Given the description of an element on the screen output the (x, y) to click on. 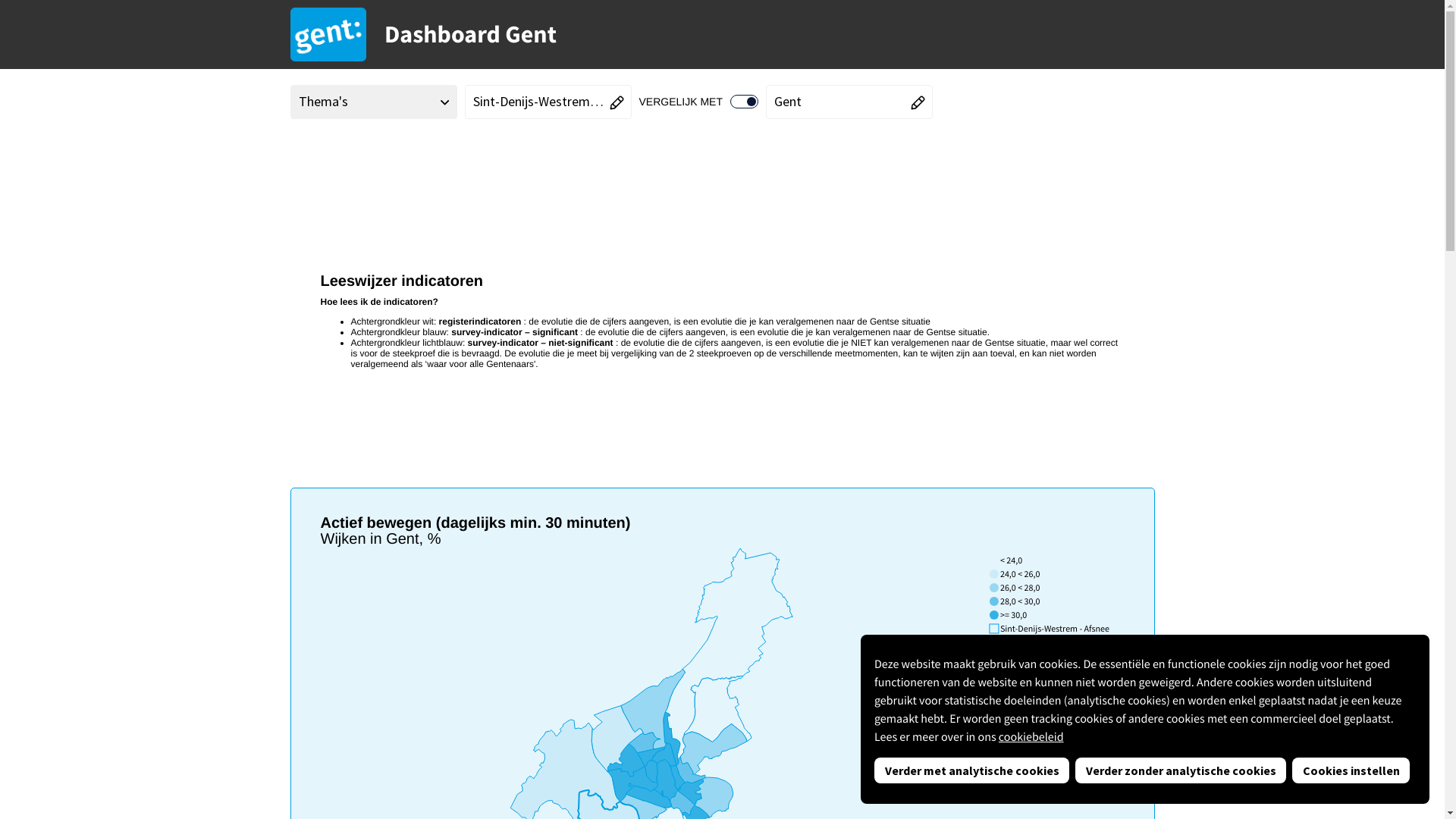
Open download menu Element type: text (1137, 158)
Gent
"Kies een vergelijking" Element type: text (848, 101)
Verder zonder analytische cookies Element type: text (1180, 770)
Deel een link Element type: hover (1102, 158)
AAN
UIT Element type: text (744, 101)
Sint-Denijs-Westrem - Afsnee
"Kies een wijk" Element type: text (547, 101)
Gezondheid Element type: text (385, 158)
Thema's Element type: text (372, 101)
Home Element type: text (311, 158)
Alle thema's Element type: text (429, 160)
Alle thema's Element type: hover (429, 159)
Verder met analytische cookies Element type: text (971, 770)
Cookies instellen Element type: text (1350, 770)
Deel een link Element type: text (1102, 158)
Alle thema's Element type: hover (341, 159)
Alle thema's Element type: text (341, 160)
Open download menu Element type: hover (1137, 158)
cookiebeleid Element type: text (1030, 736)
